Given the description of an element on the screen output the (x, y) to click on. 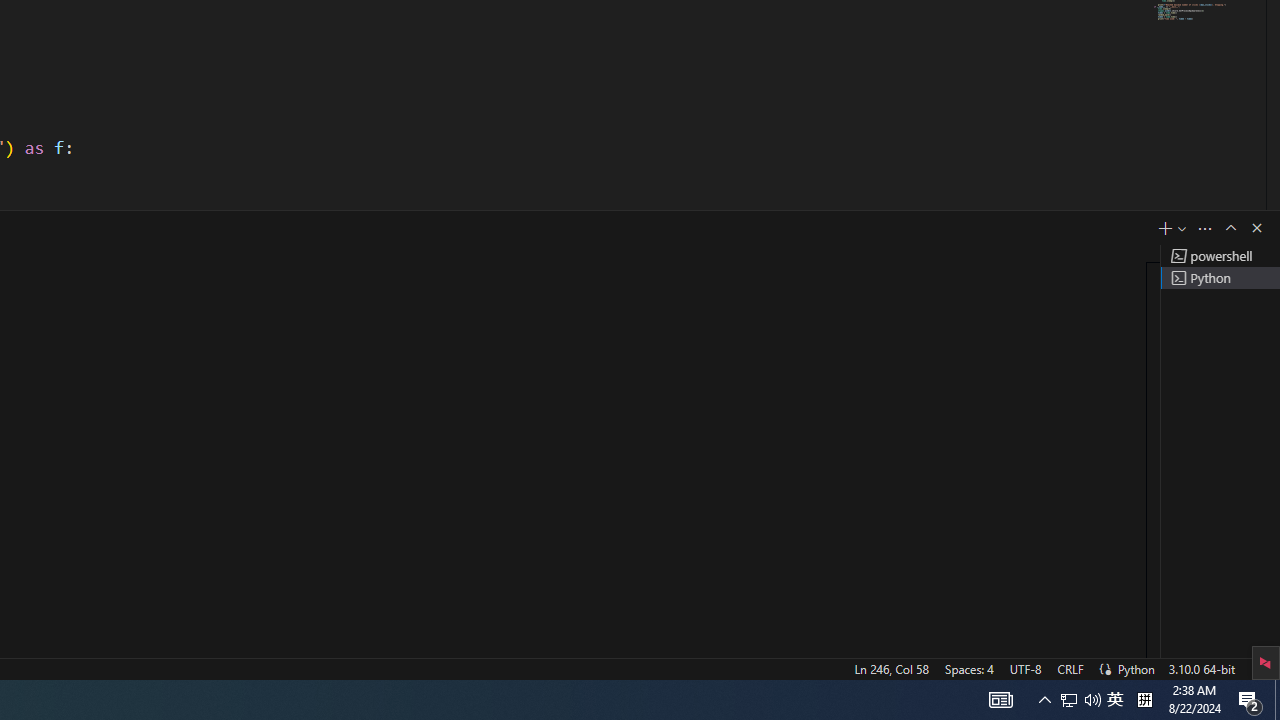
Hide Panel (1256, 227)
Maximize Panel Size (1230, 227)
Views and More Actions... (1205, 227)
CRLF (1070, 668)
Terminal 1 powershell (1220, 255)
Terminal 5 Python (1220, 277)
Python (1135, 668)
Ln 246, Col 58 (891, 668)
UTF-8 (1025, 668)
